Given the description of an element on the screen output the (x, y) to click on. 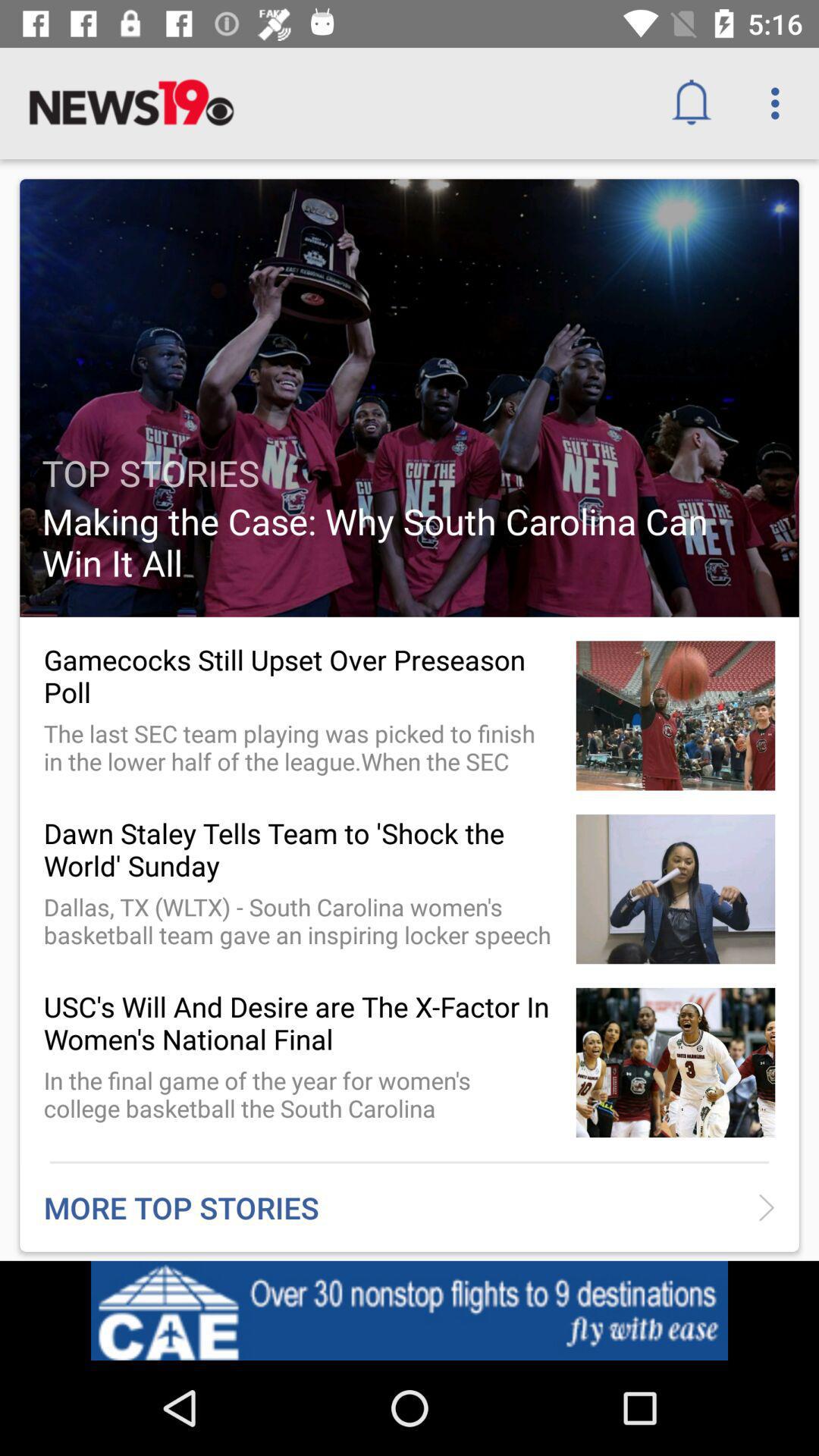
go to advertisement (409, 1310)
